Given the description of an element on the screen output the (x, y) to click on. 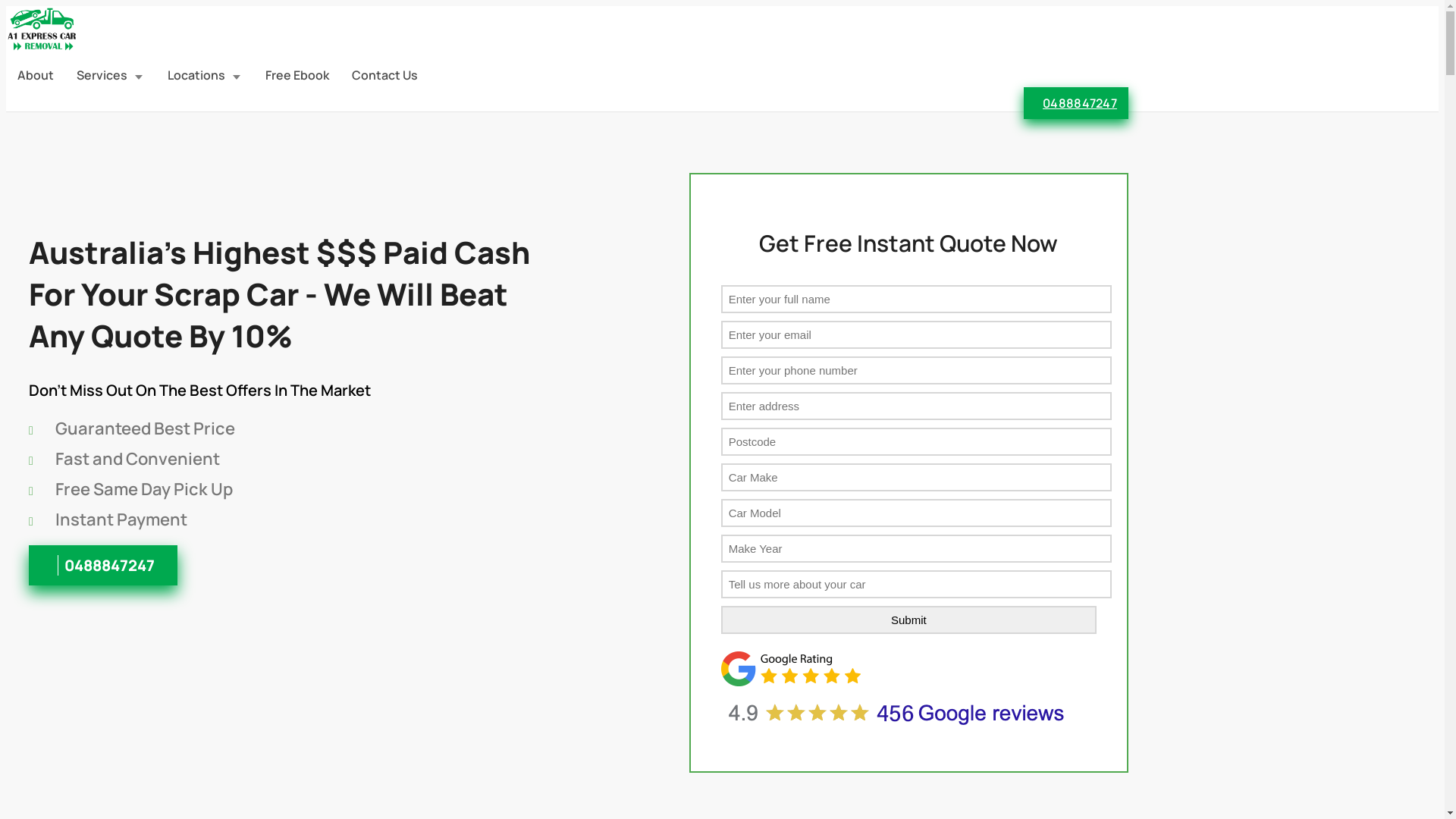
About Element type: text (35, 74)
Contact Us Element type: text (384, 74)
Locations Element type: text (205, 74)
Services Element type: text (110, 74)
Free Ebook Element type: text (297, 74)
Submit Element type: text (908, 619)
logo Element type: hover (42, 46)
0488847247 Element type: text (102, 566)
0488847247 Element type: text (1075, 103)
